Given the description of an element on the screen output the (x, y) to click on. 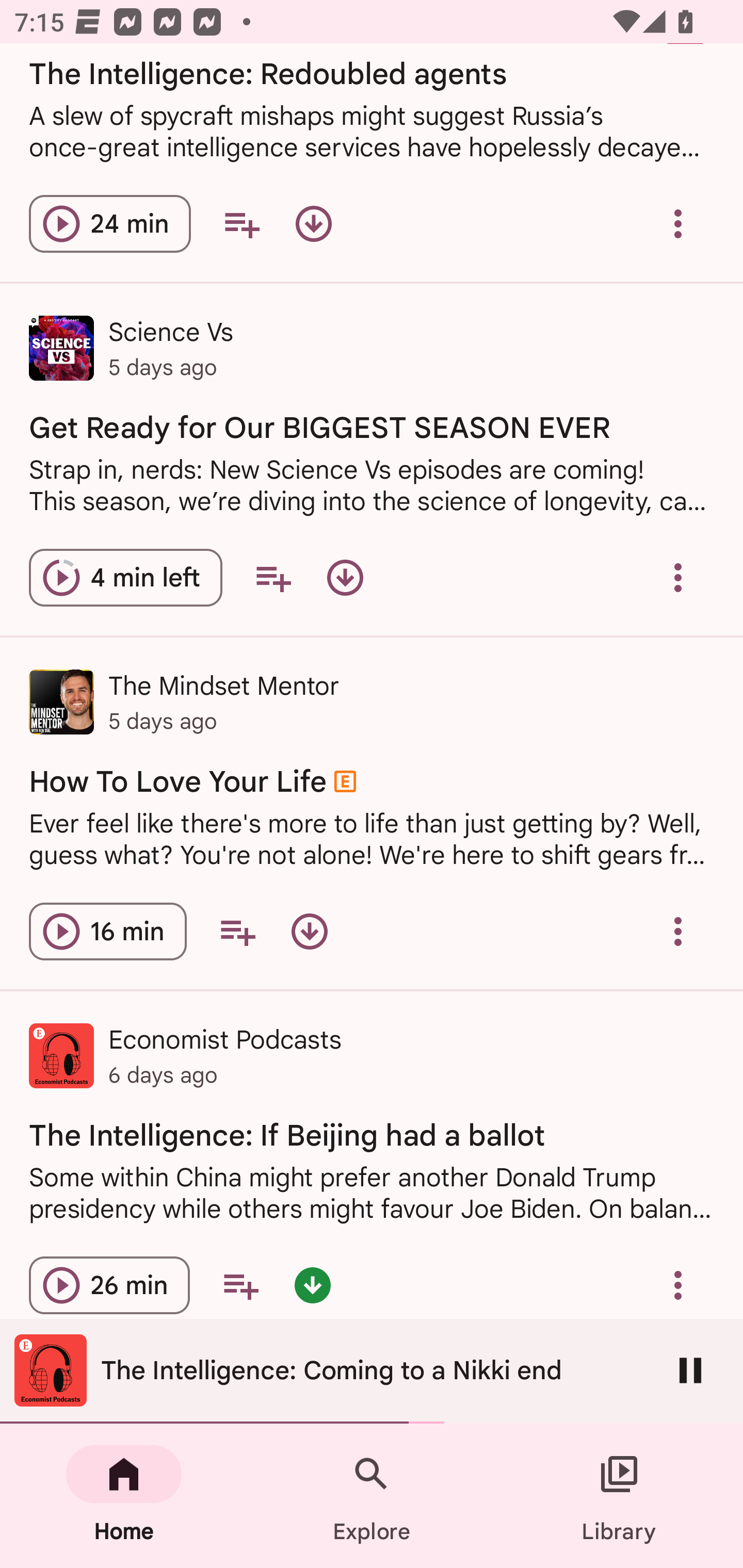
Add to your queue (241, 223)
Download episode (313, 223)
Overflow menu (677, 223)
Add to your queue (273, 577)
Download episode (345, 577)
Overflow menu (677, 577)
Play episode How To Love Your Life 16 min (107, 931)
Add to your queue (237, 931)
Download episode (309, 931)
Overflow menu (677, 931)
Add to your queue (240, 1284)
Episode downloaded - double tap for options (312, 1284)
Overflow menu (677, 1284)
Pause (690, 1370)
Explore (371, 1495)
Library (619, 1495)
